Given the description of an element on the screen output the (x, y) to click on. 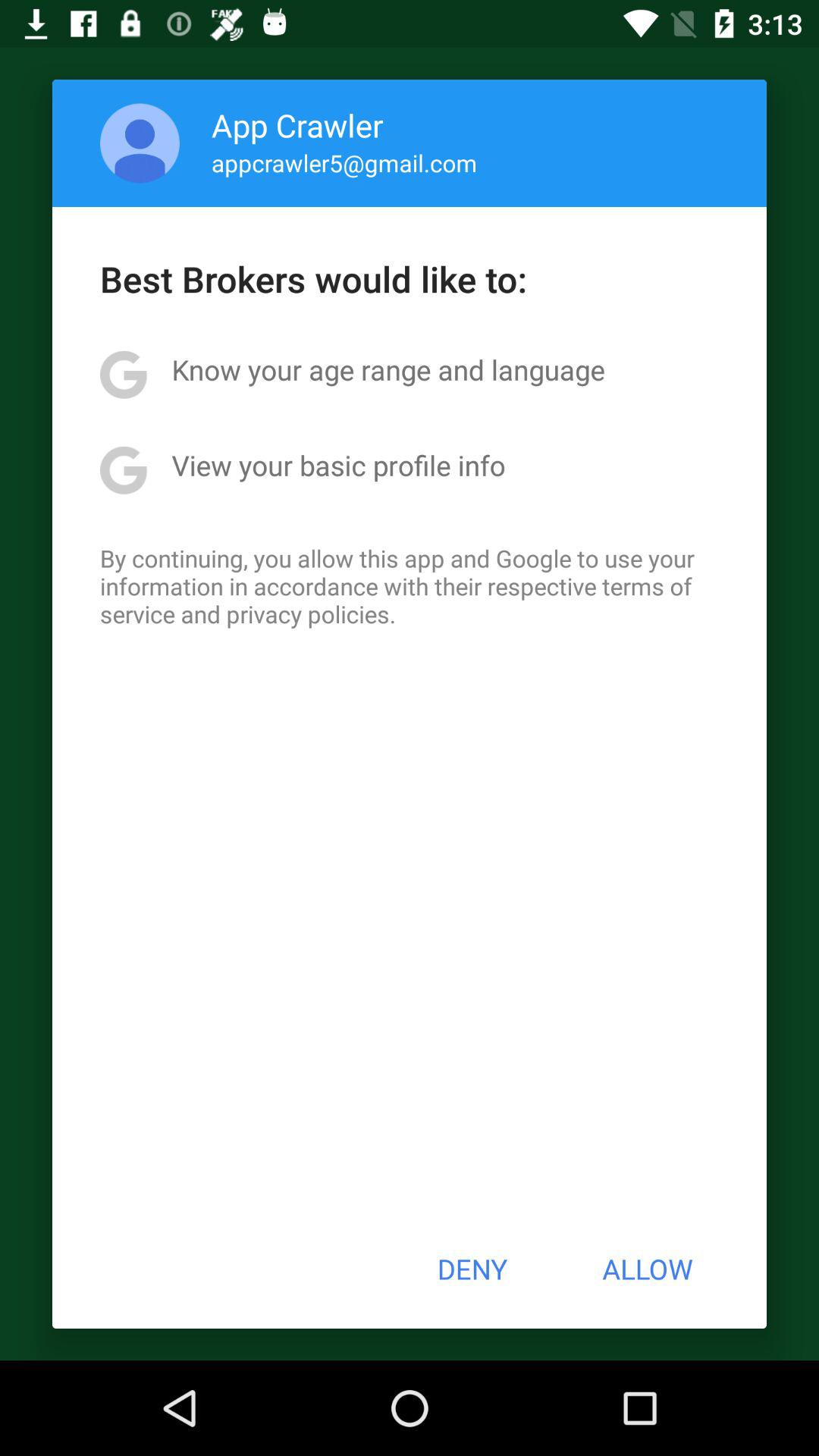
jump until appcrawler5@gmail.com (344, 162)
